Given the description of an element on the screen output the (x, y) to click on. 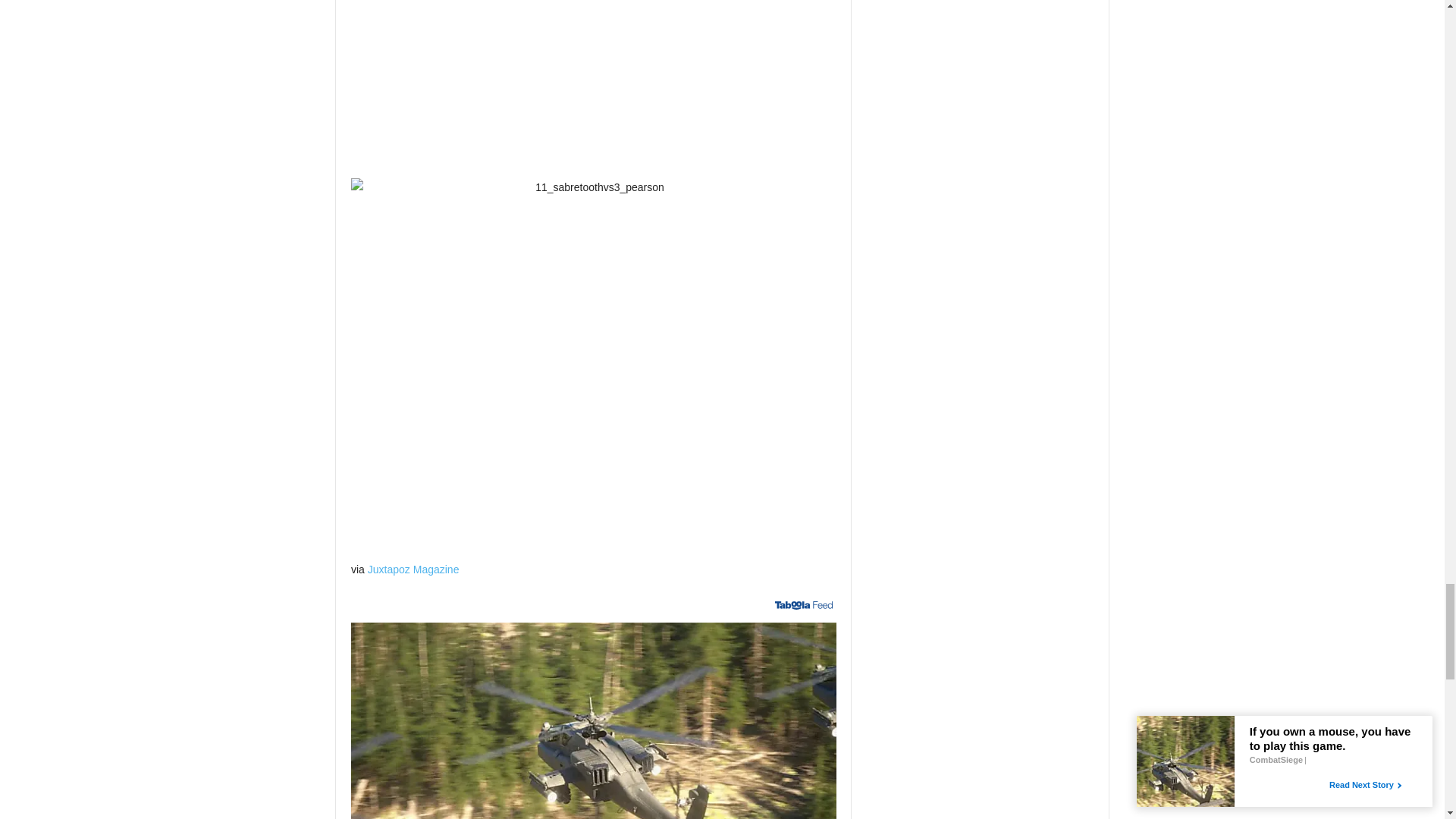
If you own a mouse, you have to play this game. (592, 720)
